Given the description of an element on the screen output the (x, y) to click on. 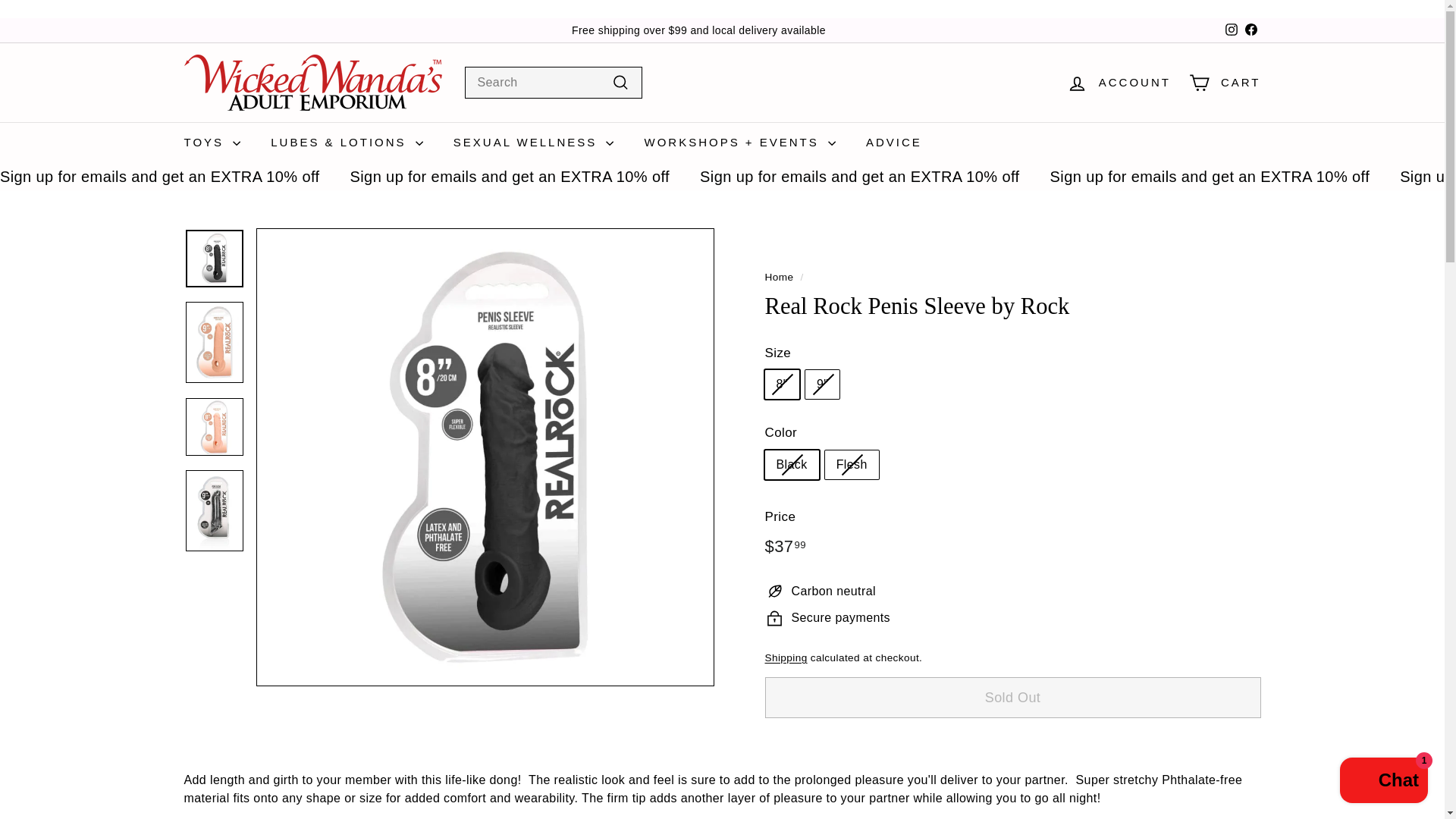
WW INC on Instagram (1230, 29)
9" (1230, 29)
Flesh (1231, 29)
ACCOUNT (1250, 29)
8" (1118, 82)
Black (1250, 29)
Back to the frontpage (1224, 82)
Skip to content (778, 276)
